Given the description of an element on the screen output the (x, y) to click on. 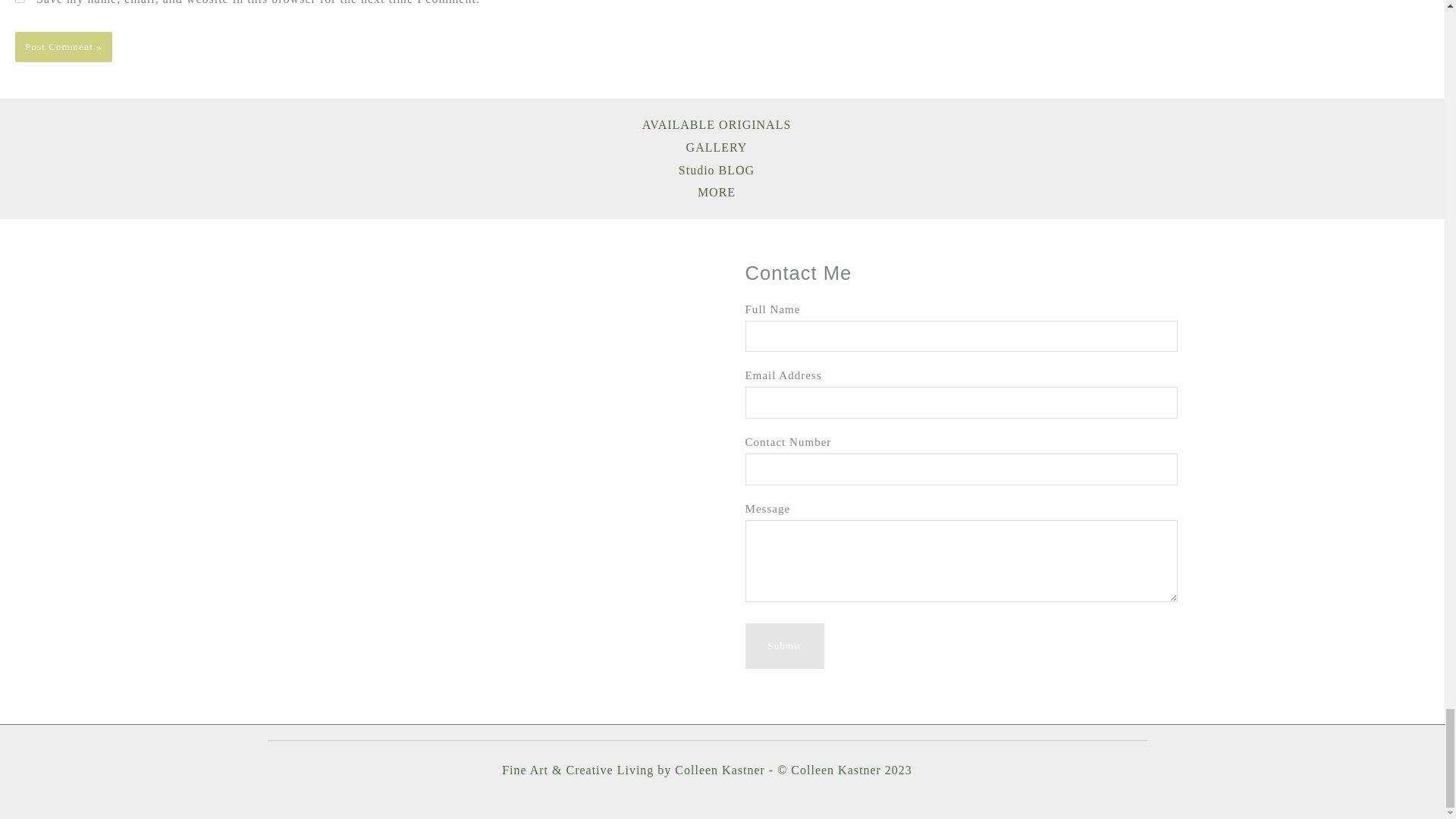
yes (19, 1)
Submit (784, 646)
